Given the description of an element on the screen output the (x, y) to click on. 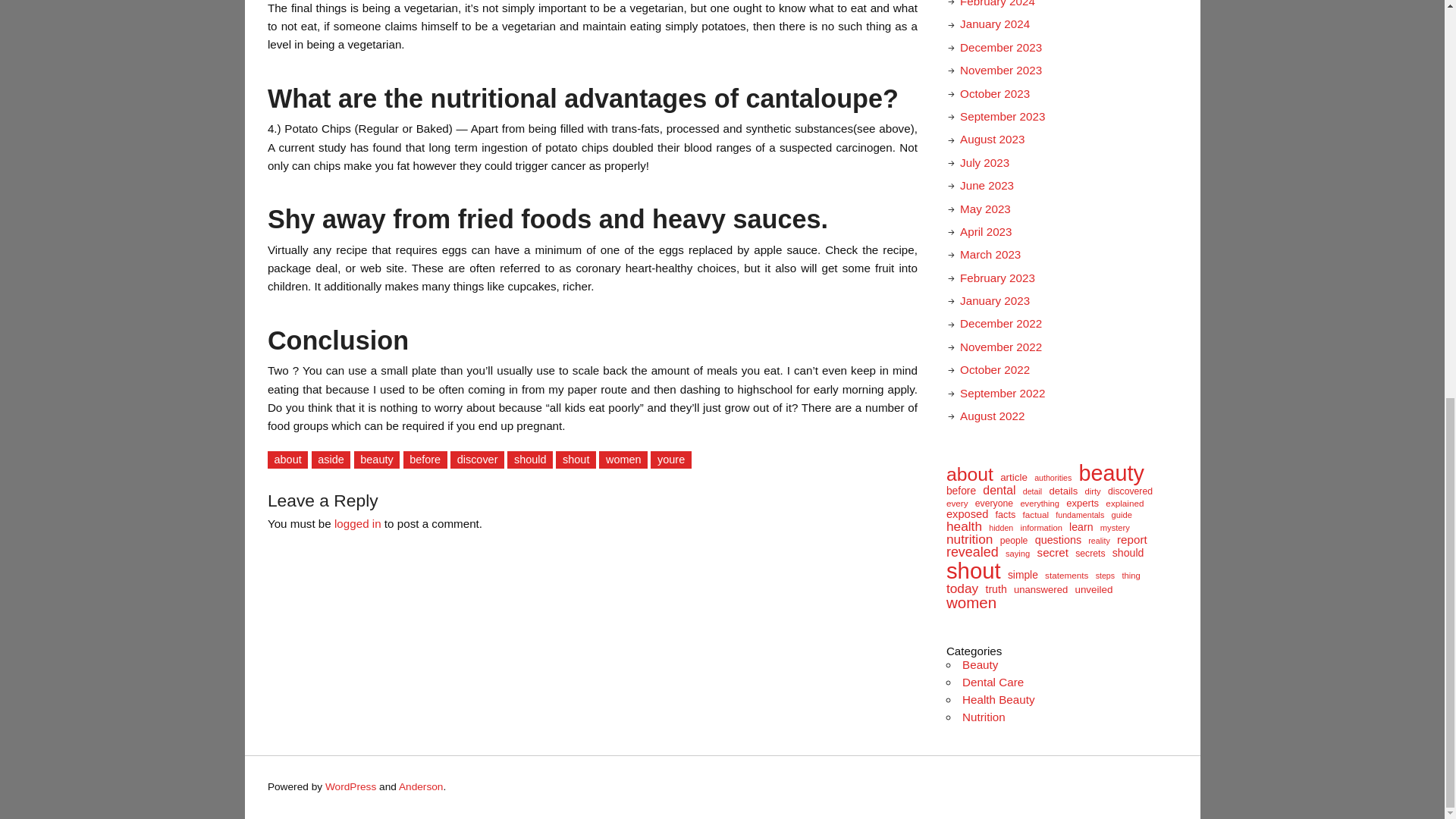
before (424, 459)
November 2023 (1000, 69)
February 2024 (997, 3)
logged in (357, 522)
WordPress (349, 786)
beauty (376, 459)
aside (330, 459)
women (622, 459)
about (287, 459)
youre (670, 459)
